Given the description of an element on the screen output the (x, y) to click on. 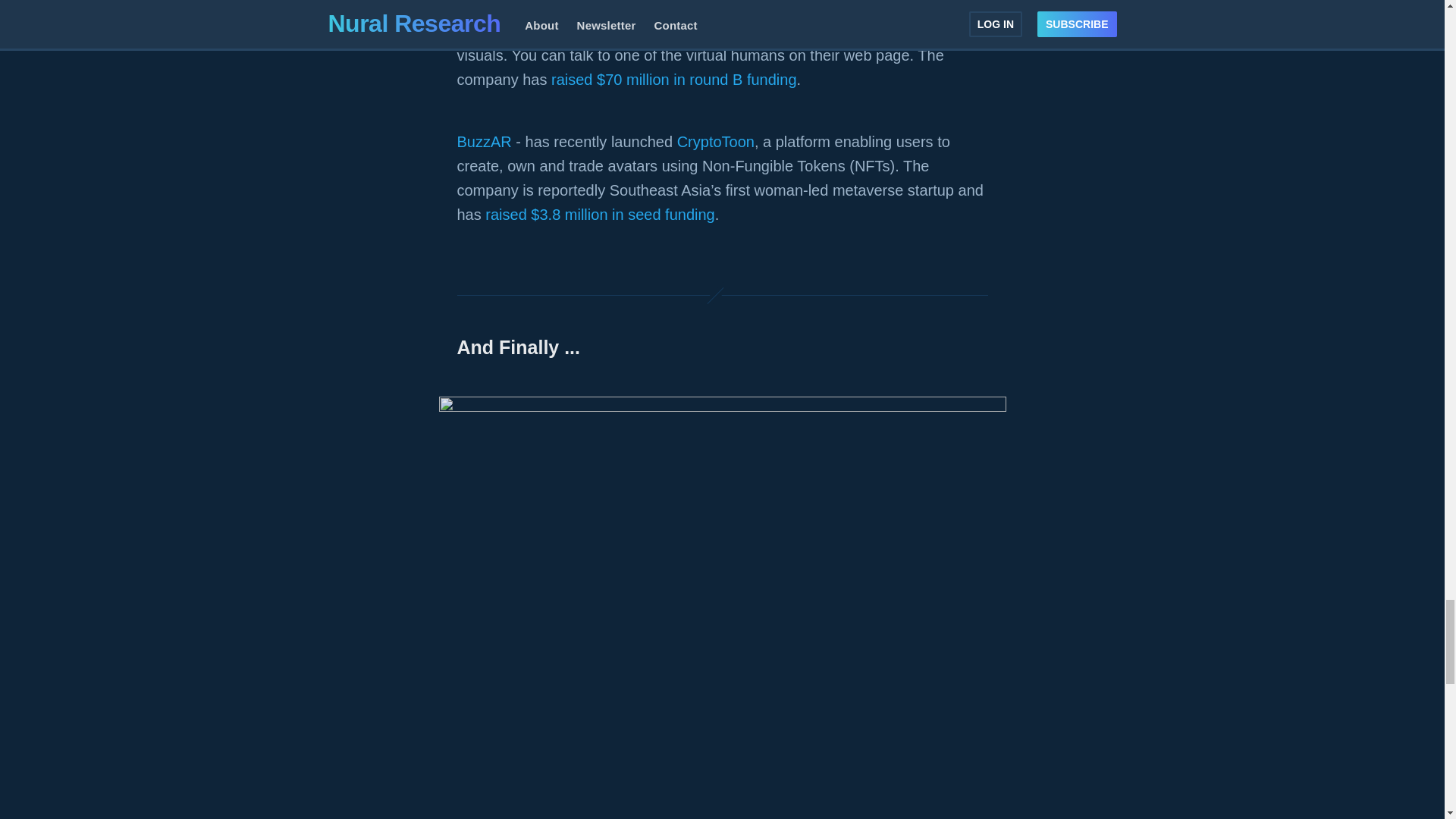
CryptoToon (715, 141)
BuzzAR (484, 141)
soul machines (505, 30)
